Given the description of an element on the screen output the (x, y) to click on. 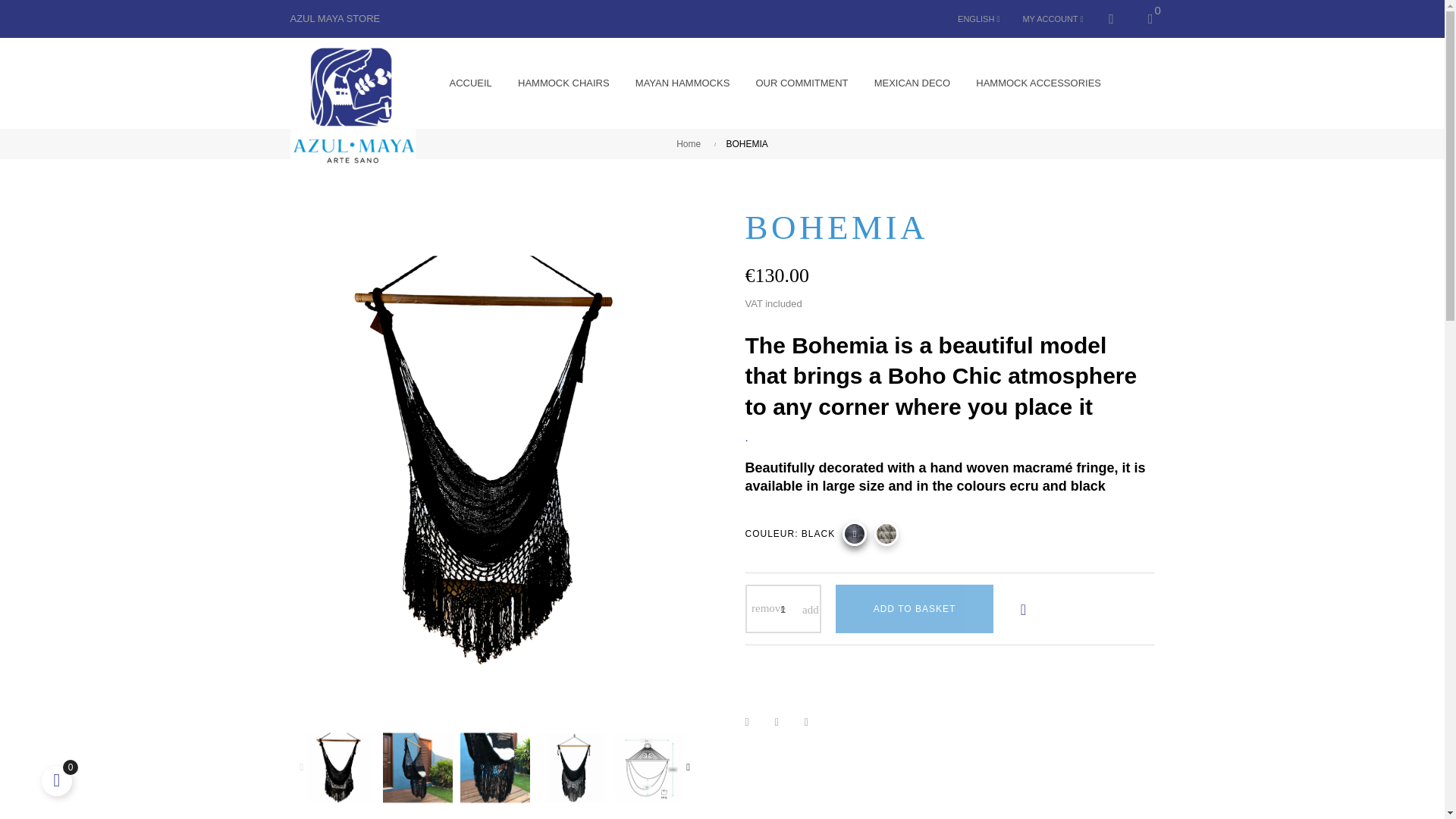
ADD TO BASKET (914, 608)
HAMMOCK CHAIRS (563, 82)
Tweet (785, 721)
HAMMOCK ACCESSORIES (1037, 82)
Home (692, 143)
Pinterest (816, 721)
Account (1052, 18)
MY ACCOUNT (1052, 18)
Language (978, 18)
MAYAN HAMMOCKS (682, 82)
Refresh (26, 11)
BOHEMIA (747, 143)
ENGLISH (978, 18)
OUR COMMITMENT (801, 82)
MEXICAN DECO (911, 82)
